Given the description of an element on the screen output the (x, y) to click on. 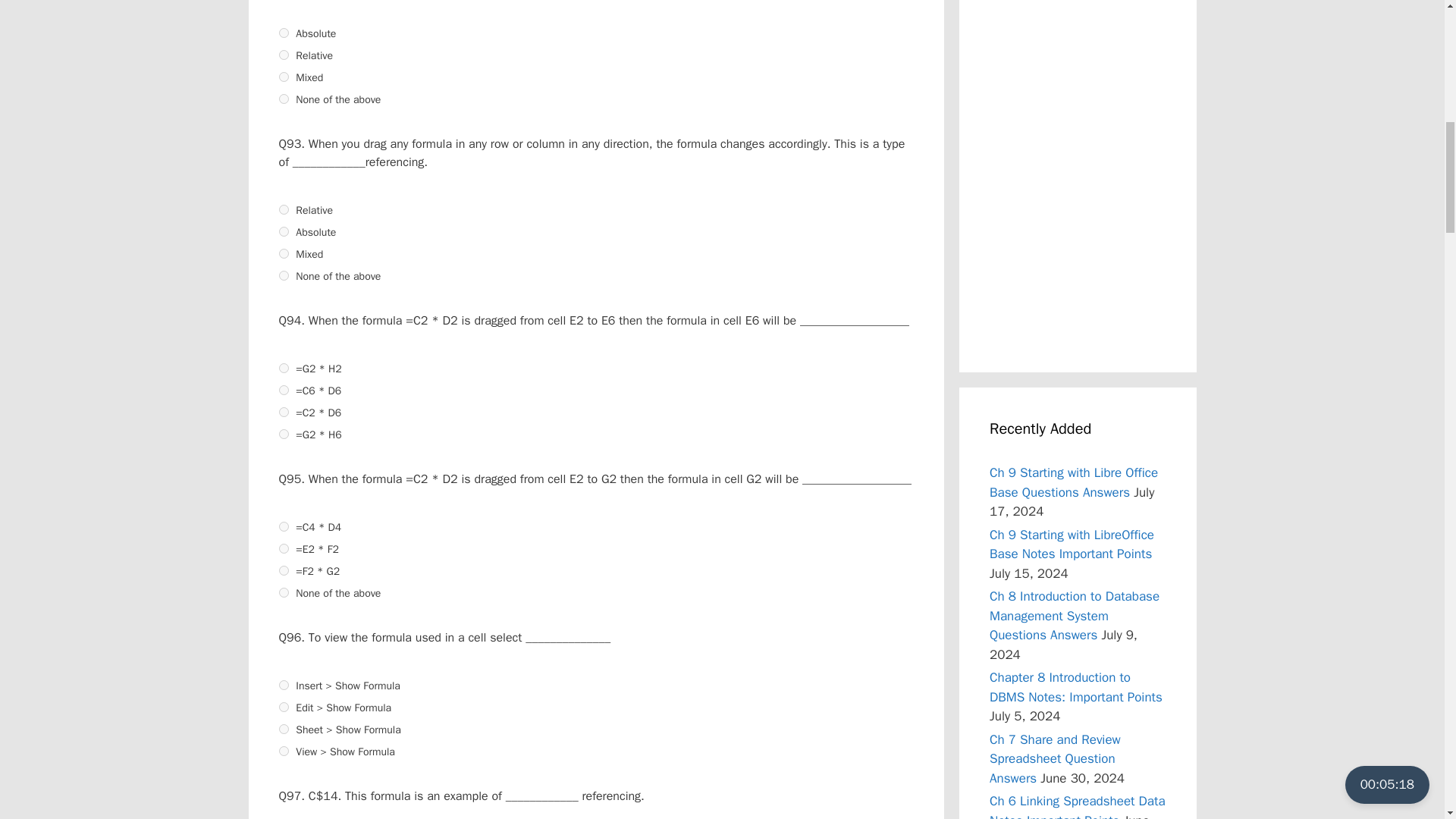
0 (283, 32)
0 (283, 368)
2 (283, 253)
1 (283, 54)
3 (283, 99)
1 (283, 389)
1 (283, 231)
0 (283, 526)
2 (283, 76)
3 (283, 433)
2 (283, 411)
0 (283, 209)
3 (283, 275)
